Given the description of an element on the screen output the (x, y) to click on. 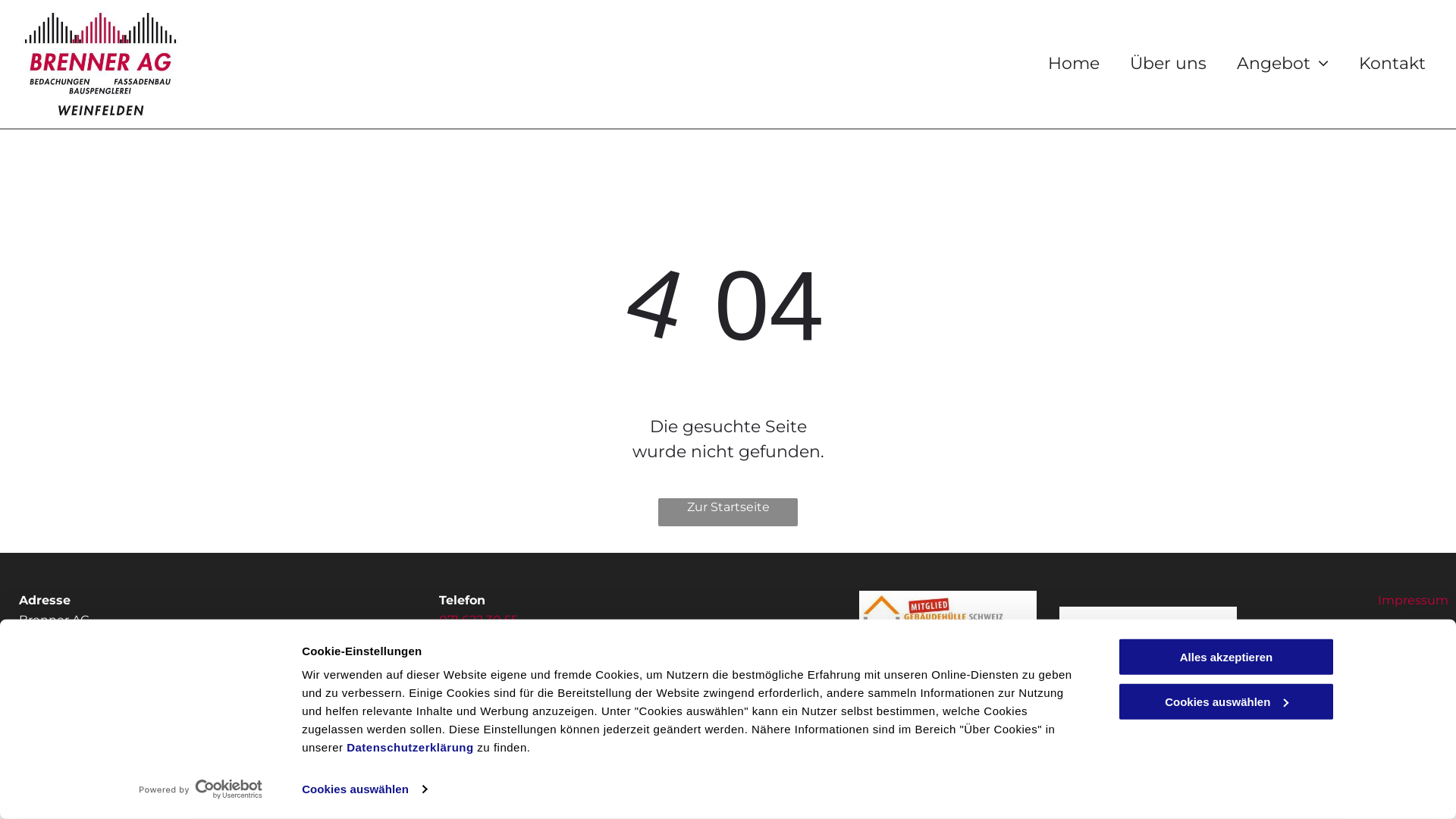
Impressum Element type: text (1412, 600)
Zur Startseite Element type: text (727, 512)
brenner@brenner-dach.ch Element type: text (520, 658)
Alles akzeptieren Element type: text (1225, 656)
Kontakt Element type: text (1391, 62)
071 622 30 55 Element type: text (478, 619)
Angebot Element type: text (1282, 62)
Home Element type: text (1073, 62)
